Given the description of an element on the screen output the (x, y) to click on. 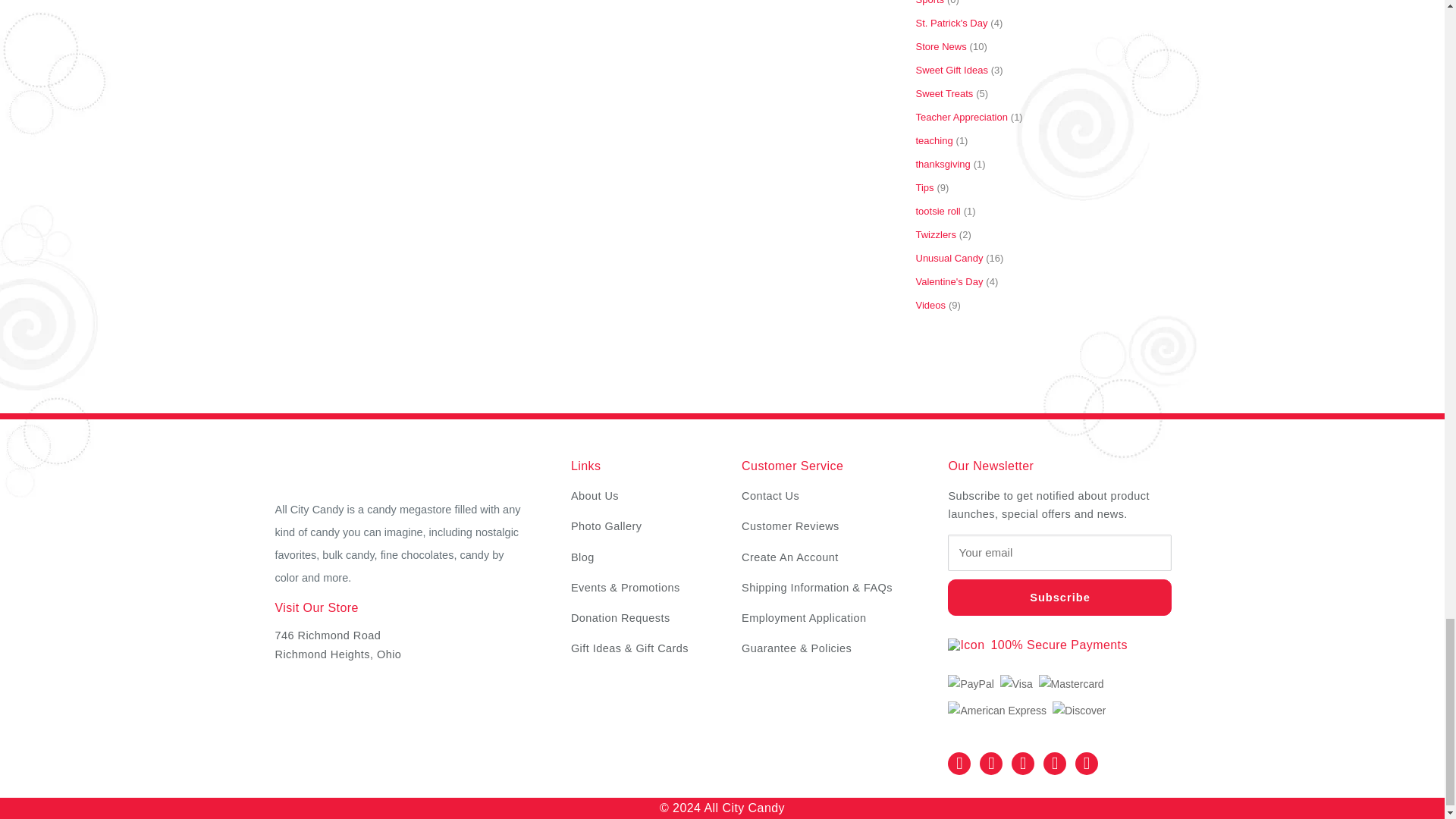
Subscribe (1059, 597)
